Given the description of an element on the screen output the (x, y) to click on. 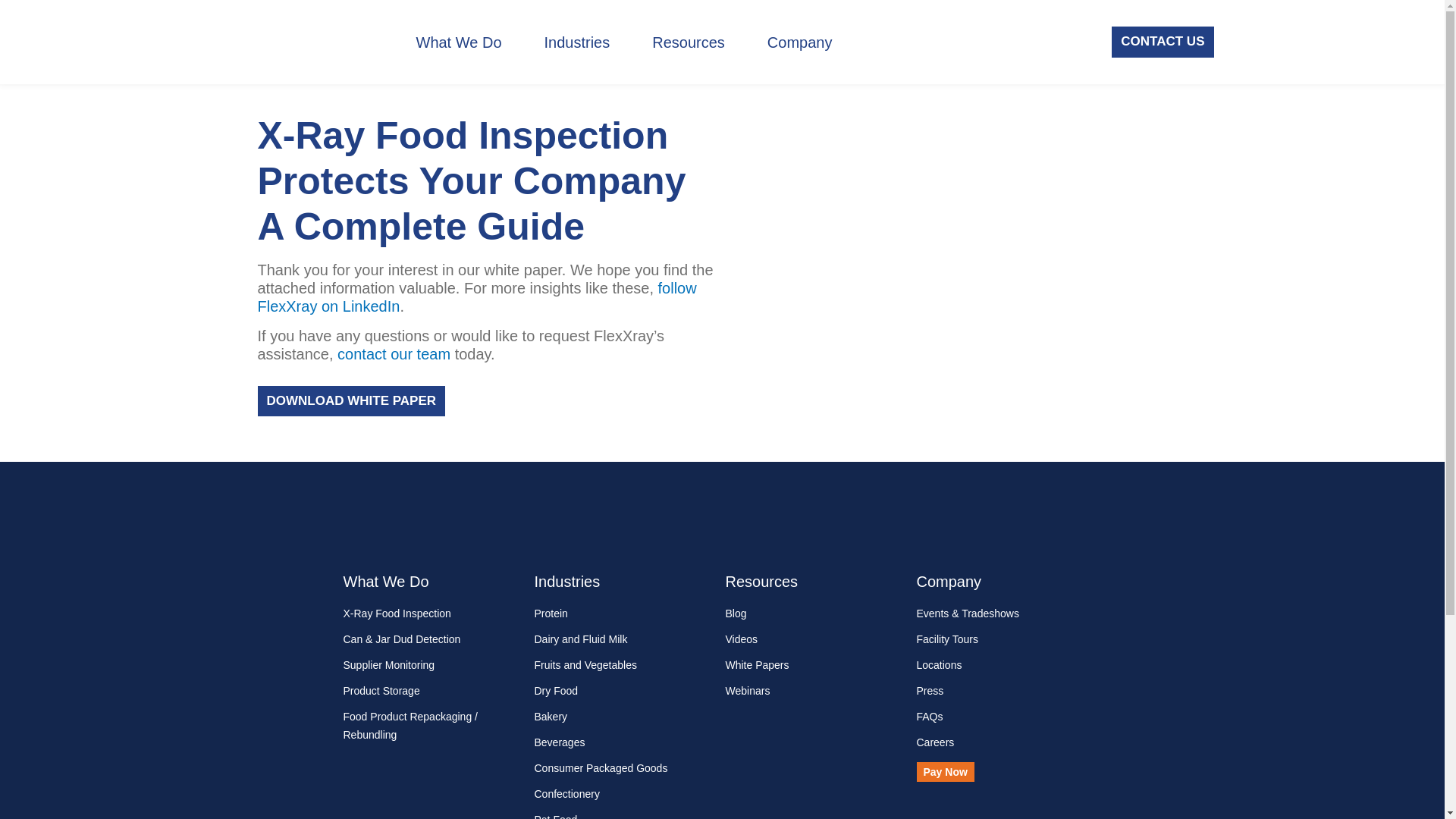
Industries (576, 42)
CONTACT US (1162, 41)
Resources (688, 42)
Company (799, 42)
What We Do (457, 42)
